Given the description of an element on the screen output the (x, y) to click on. 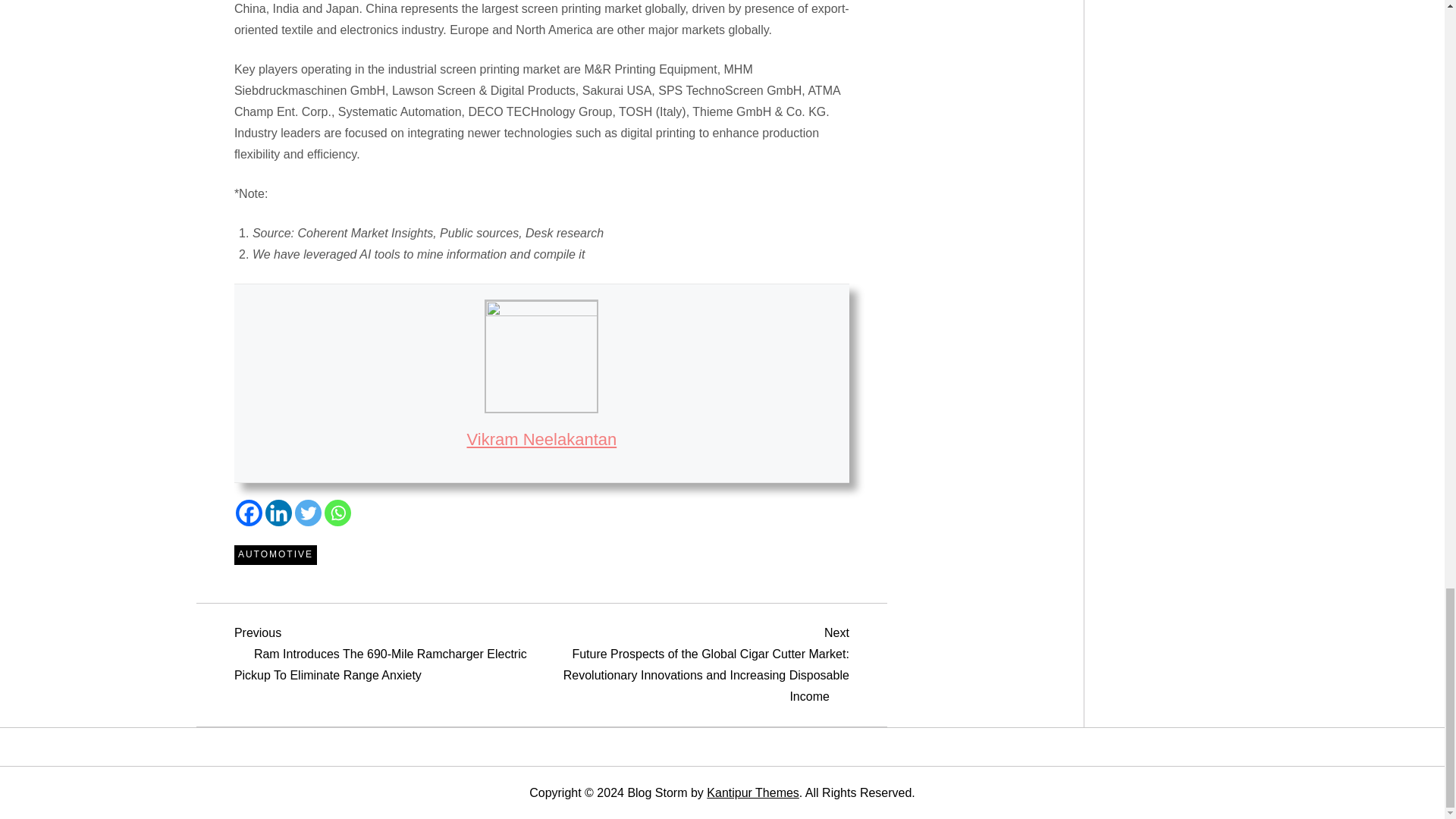
Whatsapp (337, 512)
Linkedin (278, 512)
Kantipur Themes (752, 792)
Facebook (248, 512)
Twitter (308, 512)
AUTOMOTIVE (275, 555)
Vikram Neelakantan (542, 438)
